Given the description of an element on the screen output the (x, y) to click on. 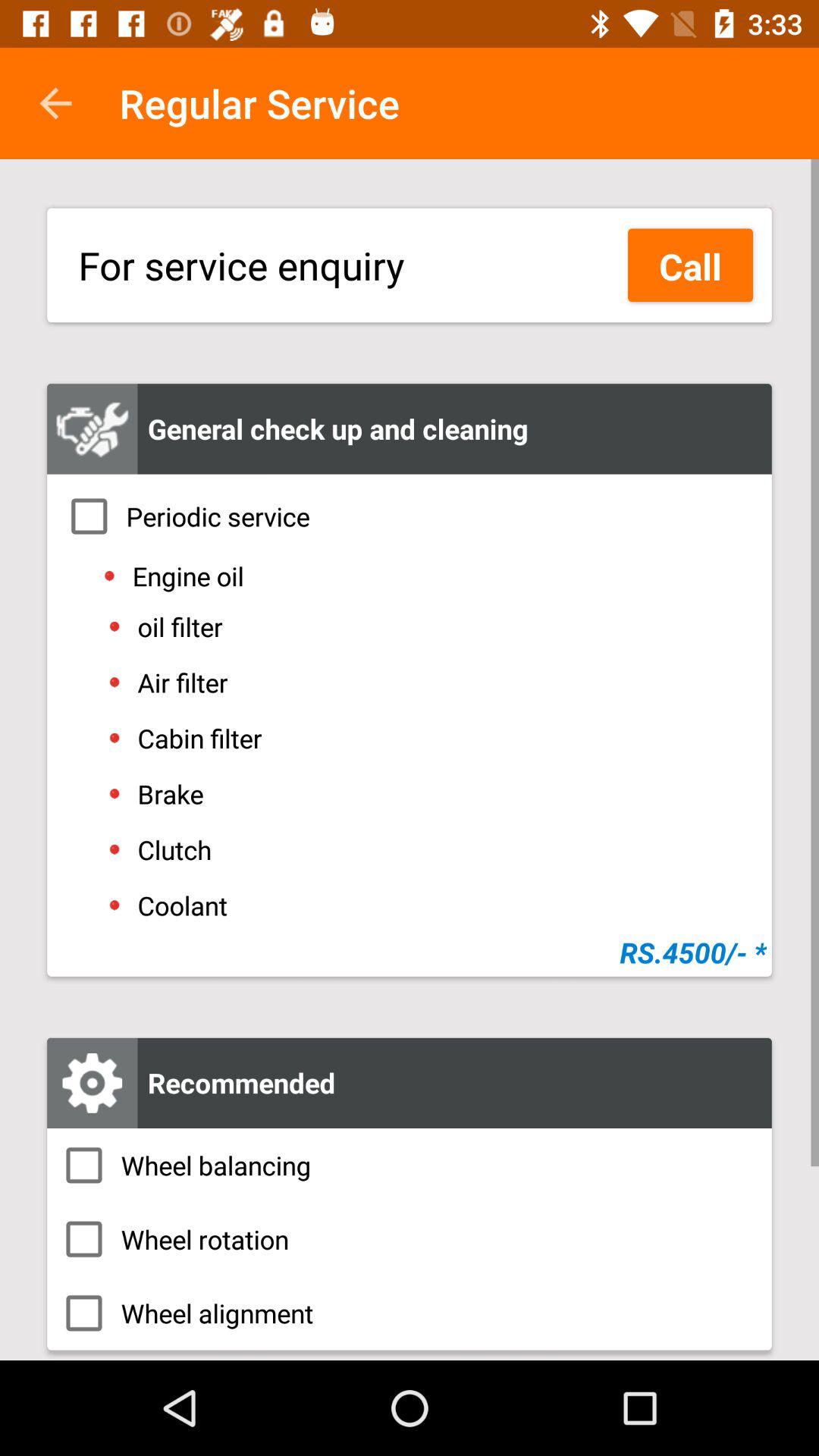
turn on app next to regular service (55, 103)
